Given the description of an element on the screen output the (x, y) to click on. 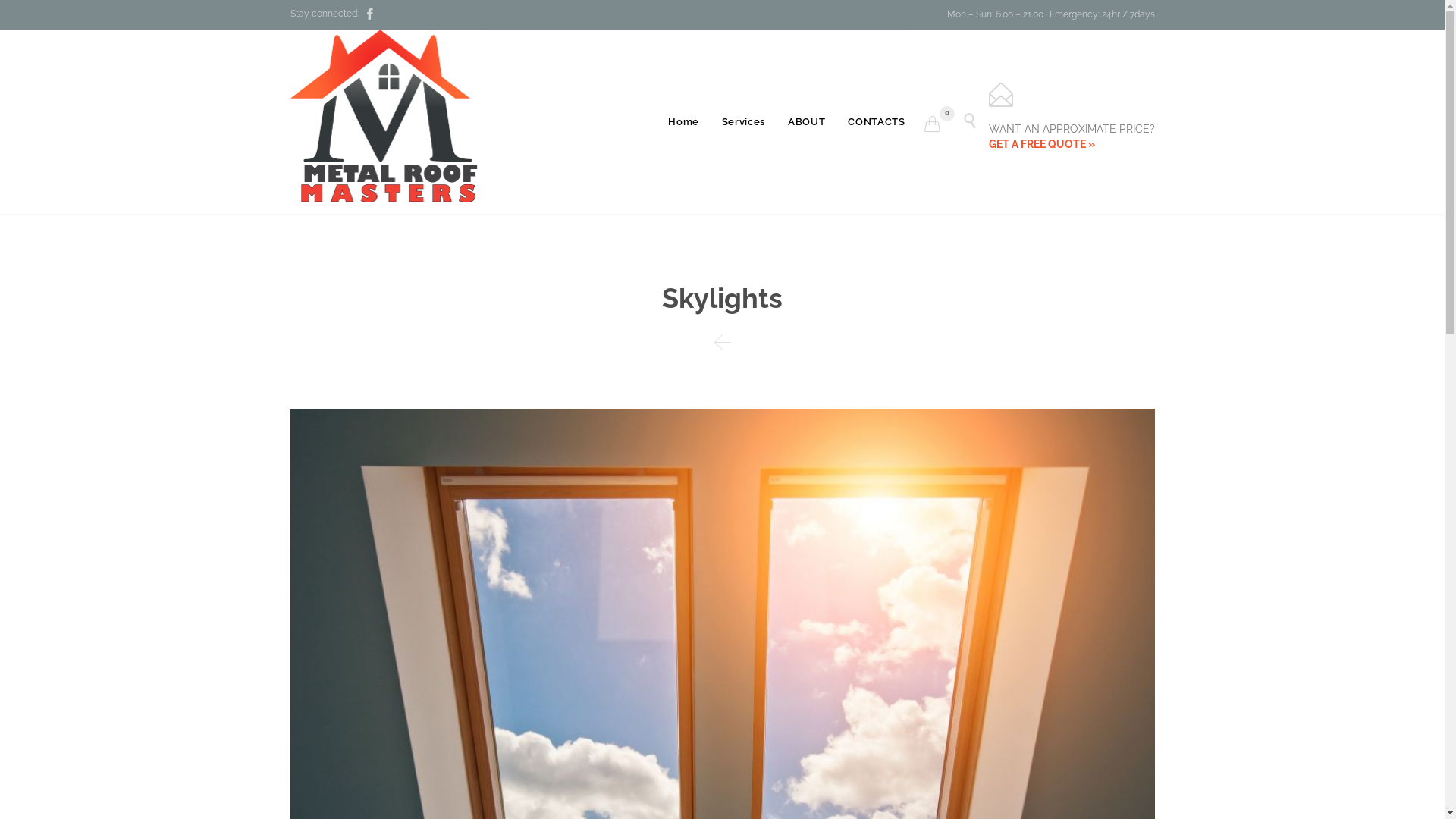
Metal Roof Masters Element type: hover (386, 121)
CONTACTS Element type: text (875, 123)
Services Element type: text (743, 123)
ABOUT Element type: text (806, 123)
Home Element type: text (683, 123)
Skip to content Element type: text (916, 103)
